Given the description of an element on the screen output the (x, y) to click on. 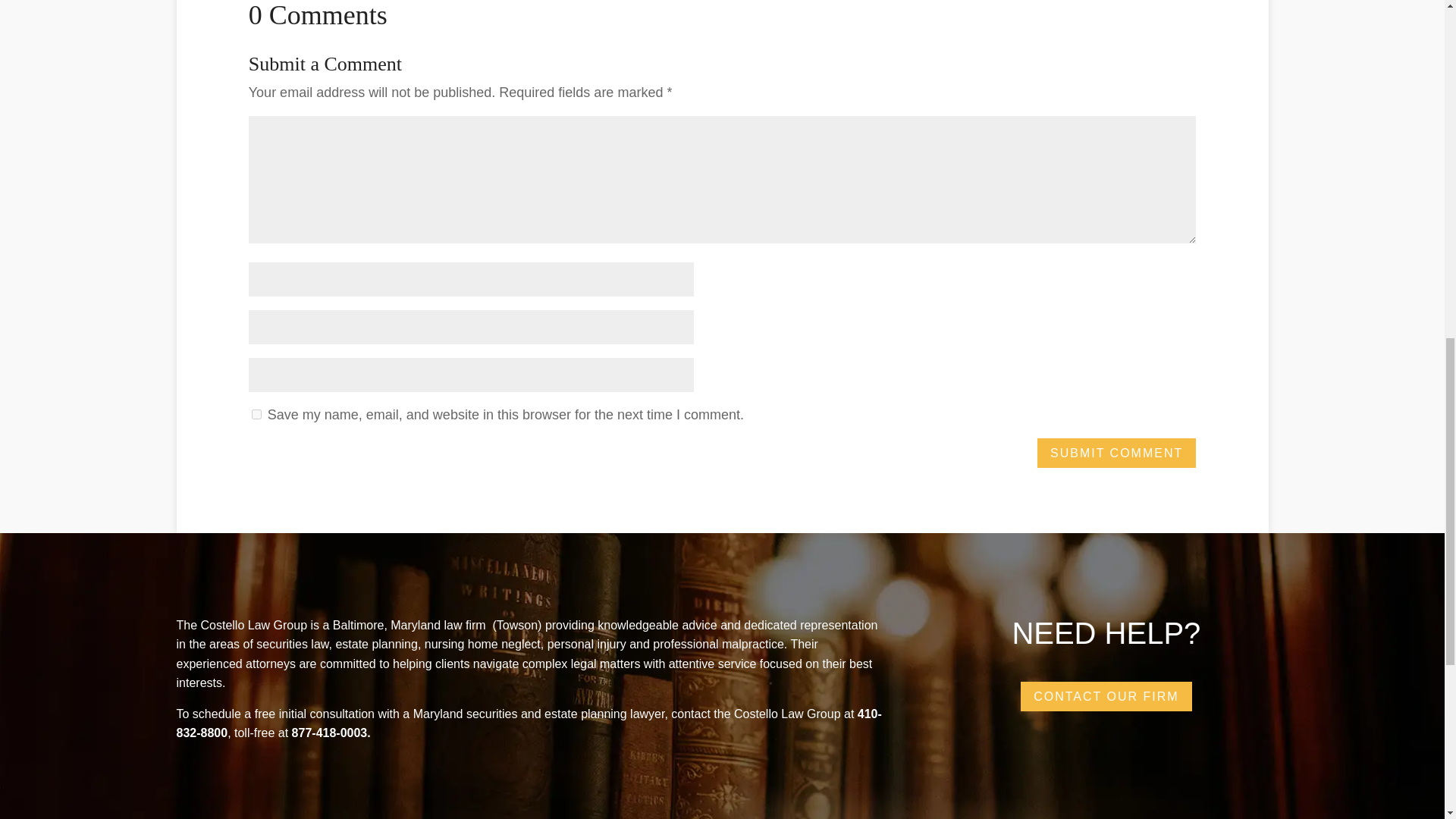
yes (256, 414)
